Given the description of an element on the screen output the (x, y) to click on. 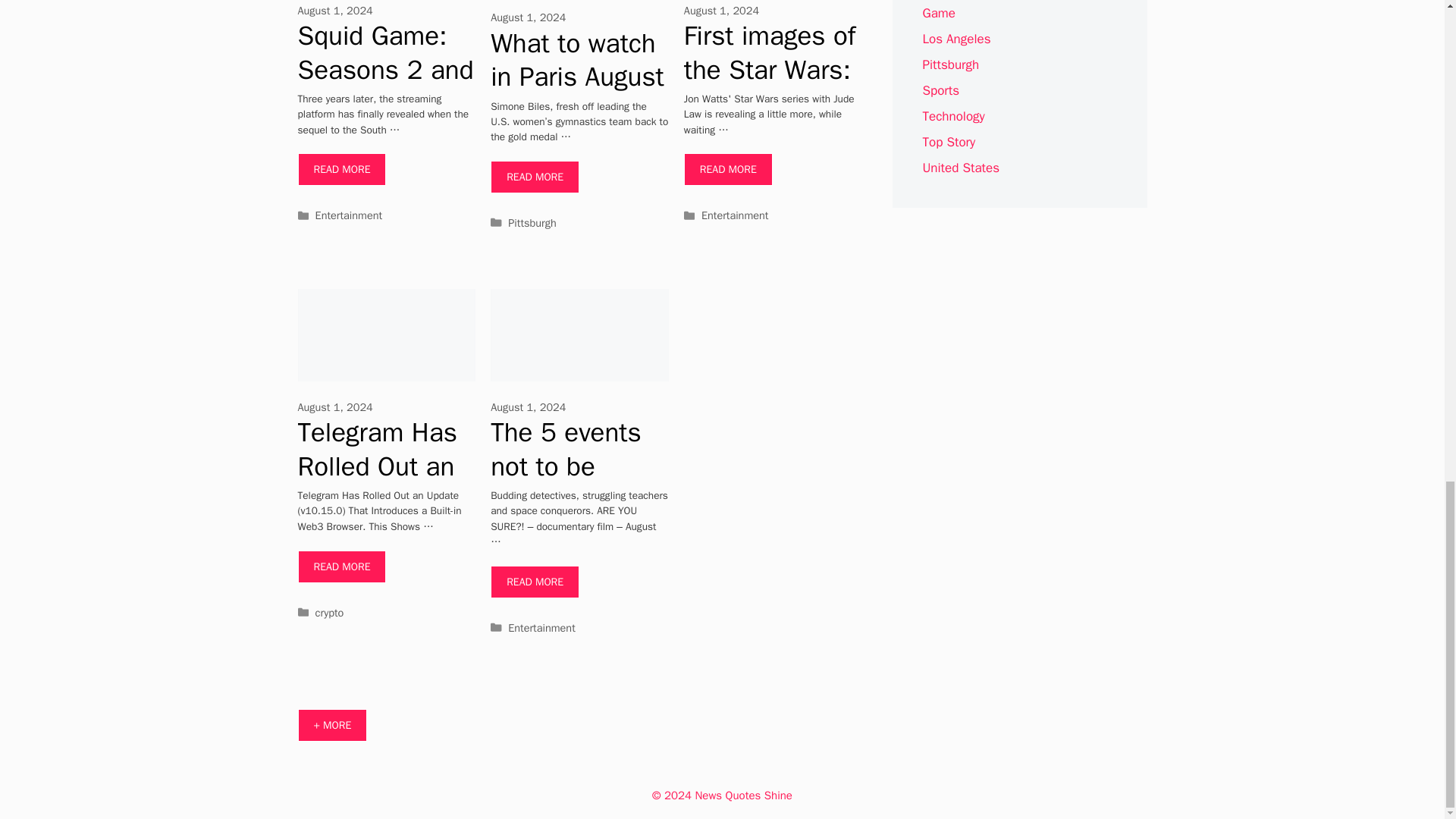
Scroll back to top (1406, 356)
What to watch in Paris August 1 (534, 176)
First images of the Star Wars: Skeleton Crew series (728, 169)
READ MORE (341, 169)
Entertainment (348, 214)
What to watch in Paris August 1 (576, 76)
